Given the description of an element on the screen output the (x, y) to click on. 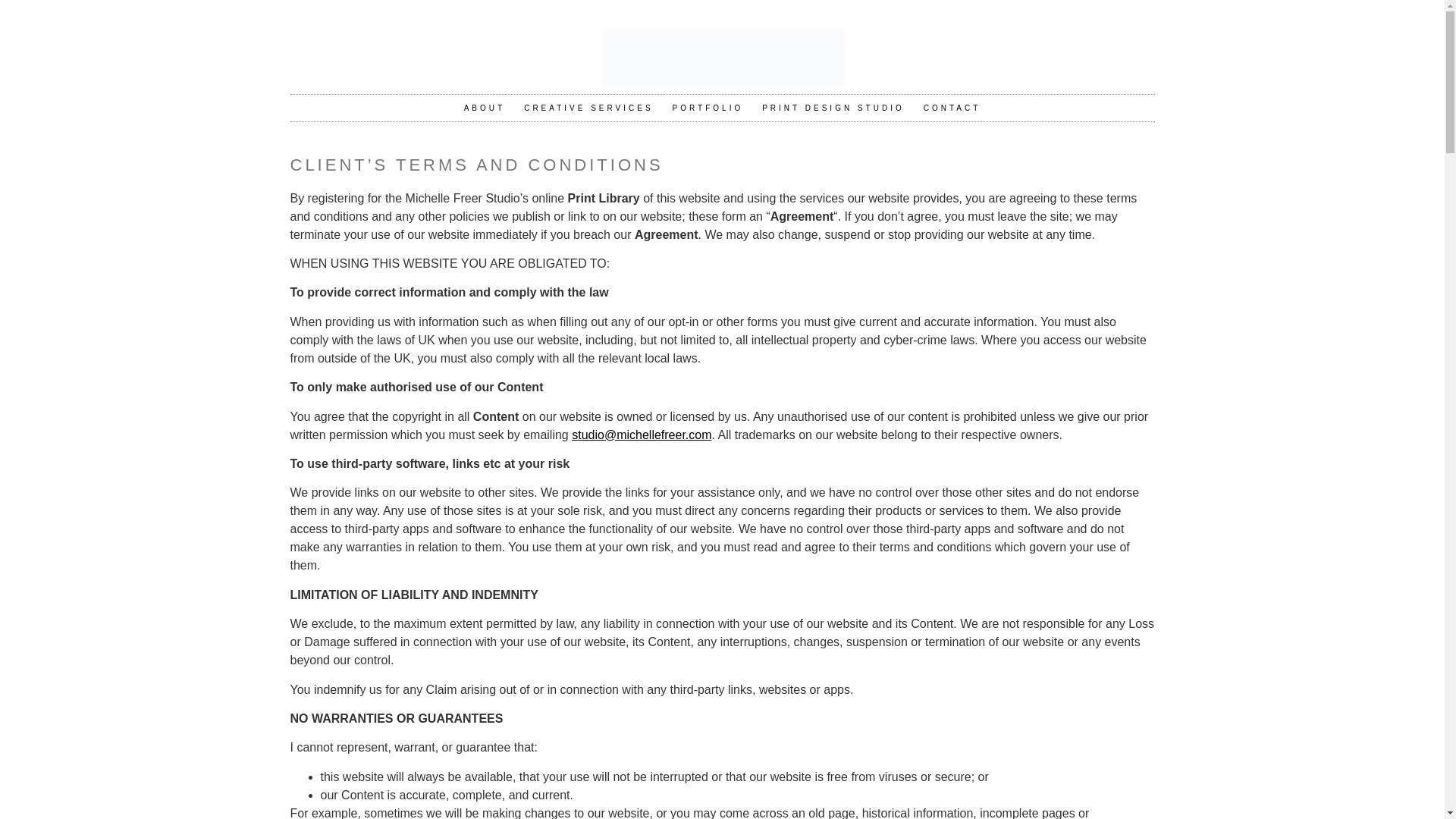
ABOUT (484, 108)
PORTFOLIO (708, 108)
CONTACT (952, 108)
CREATIVE SERVICES (587, 108)
PRINT DESIGN STUDIO (833, 108)
